Given the description of an element on the screen output the (x, y) to click on. 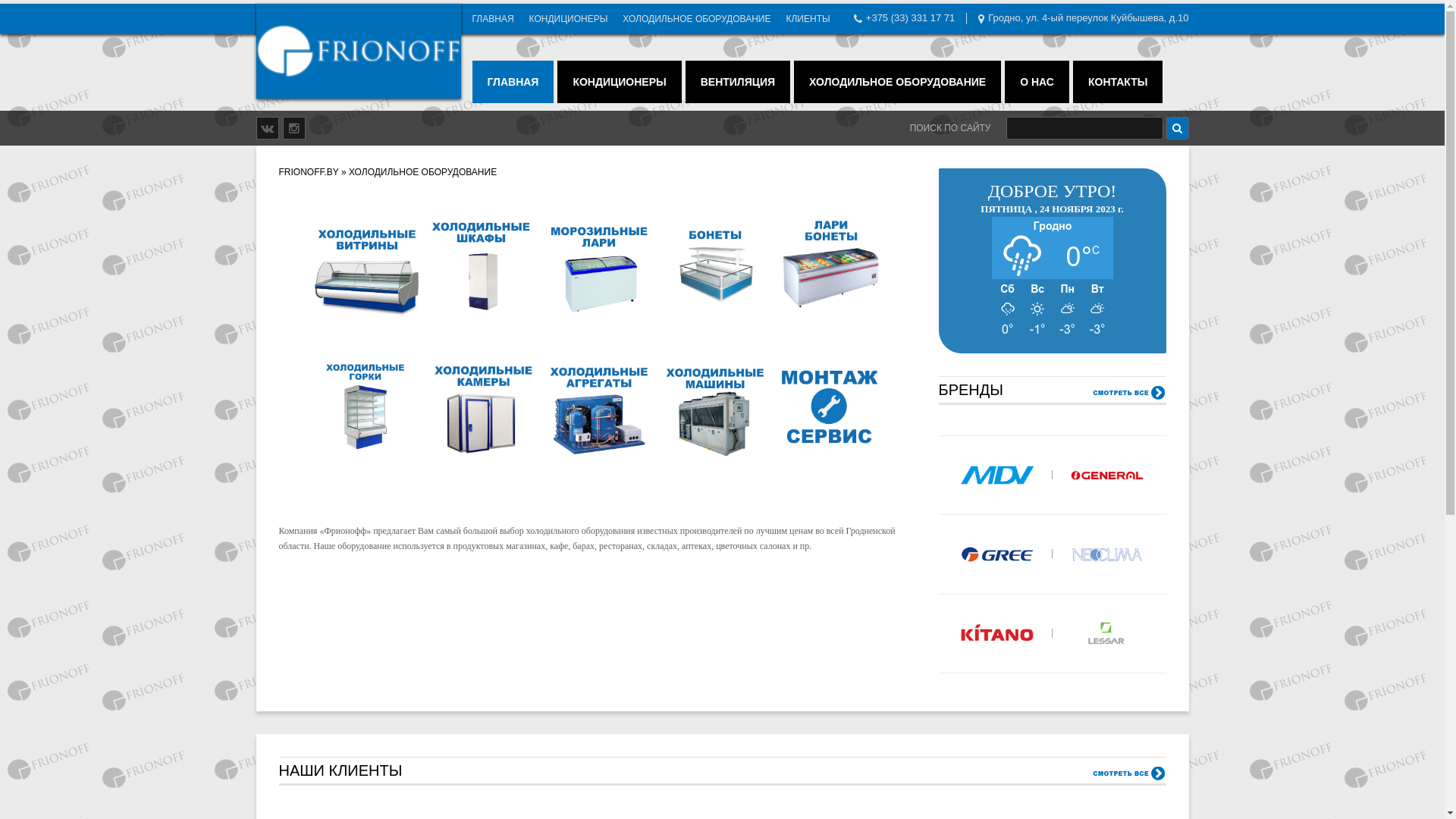
+375 (33) 331 17 71 Element type: text (910, 17)
FRIONOFF.BY Element type: text (308, 171)
